Given the description of an element on the screen output the (x, y) to click on. 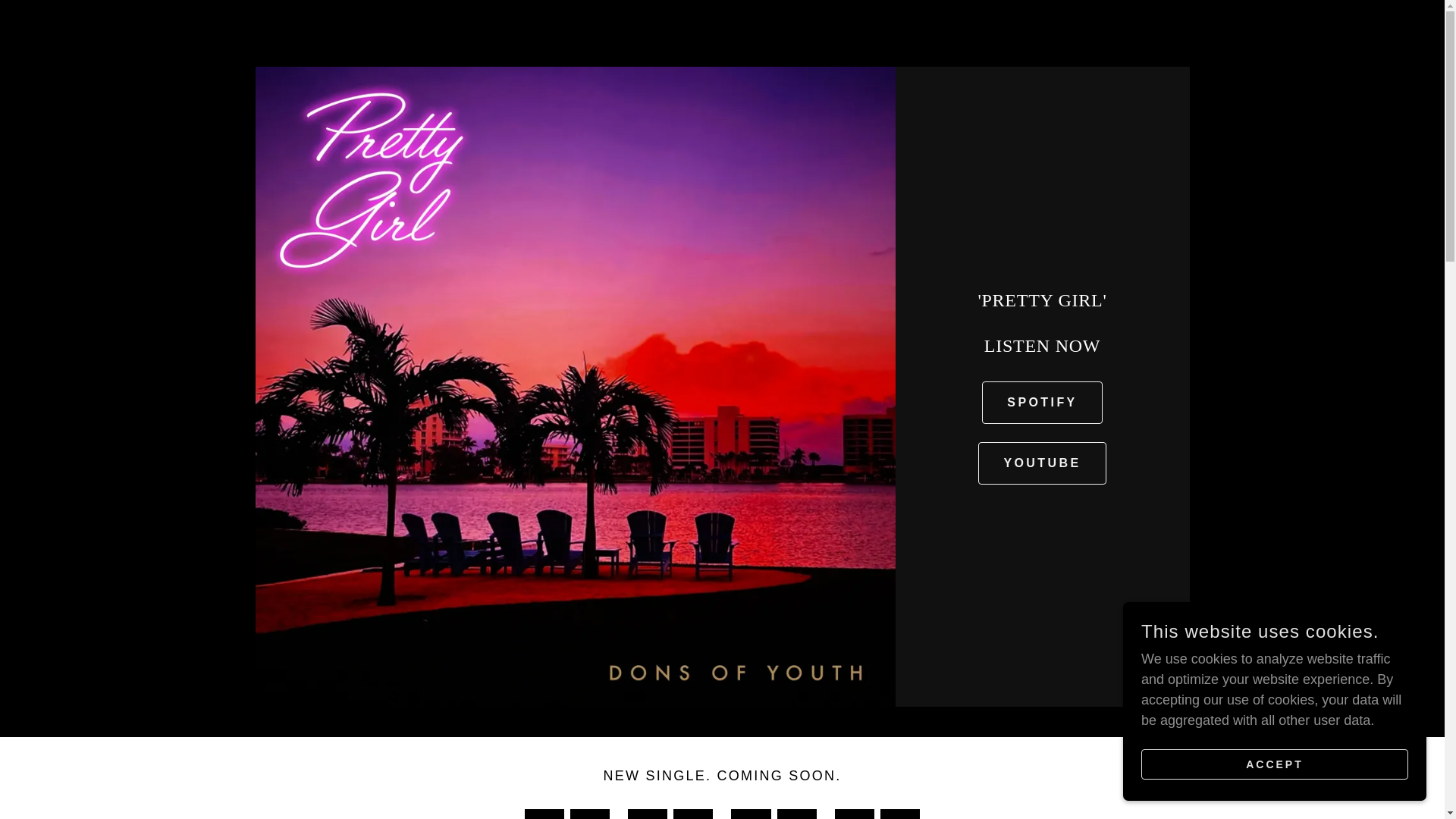
YOUTUBE (1041, 463)
ACCEPT (1274, 764)
SPOTIFY (1041, 402)
